Given the description of an element on the screen output the (x, y) to click on. 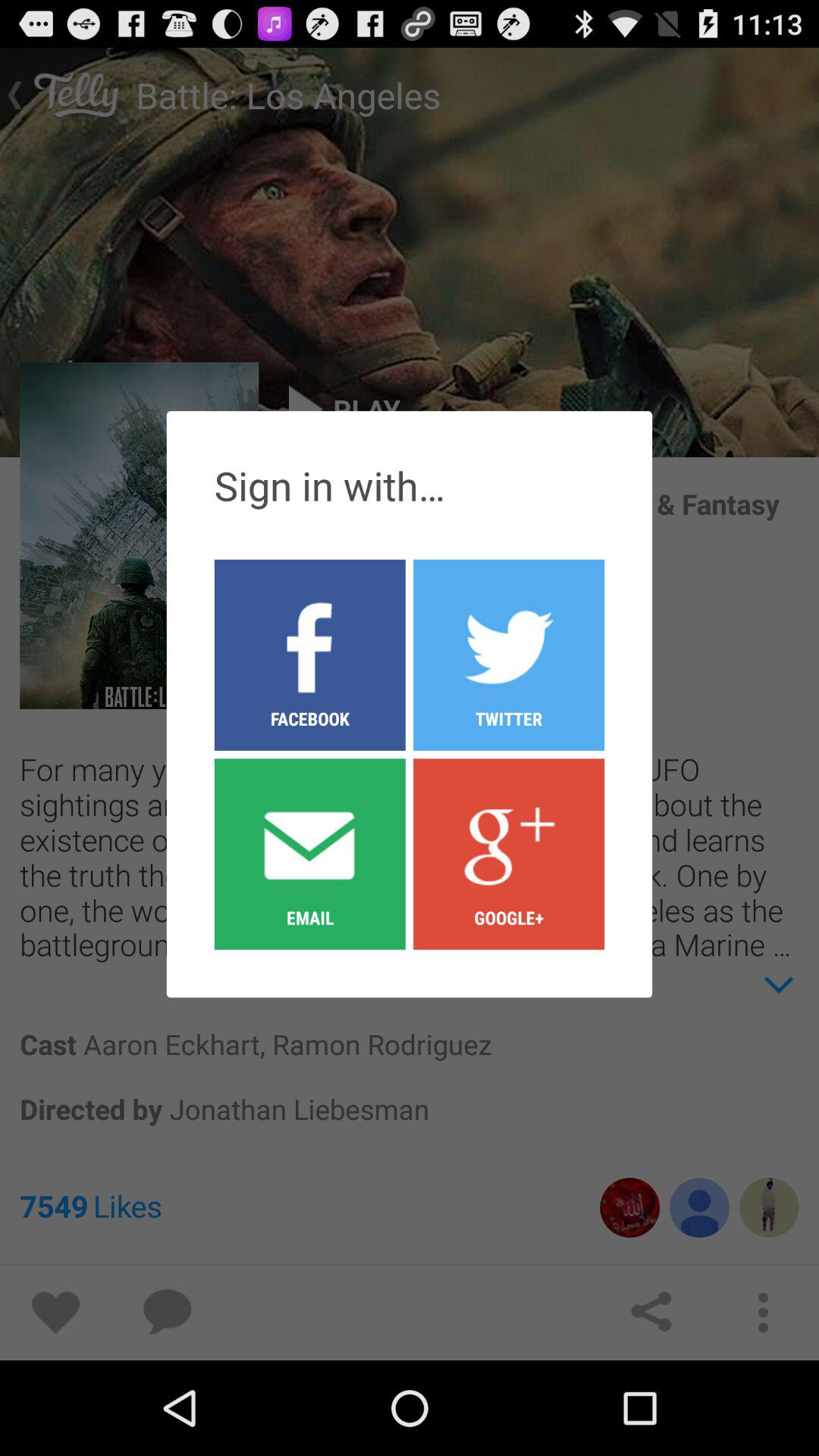
turn off button to the left of twitter icon (309, 853)
